Given the description of an element on the screen output the (x, y) to click on. 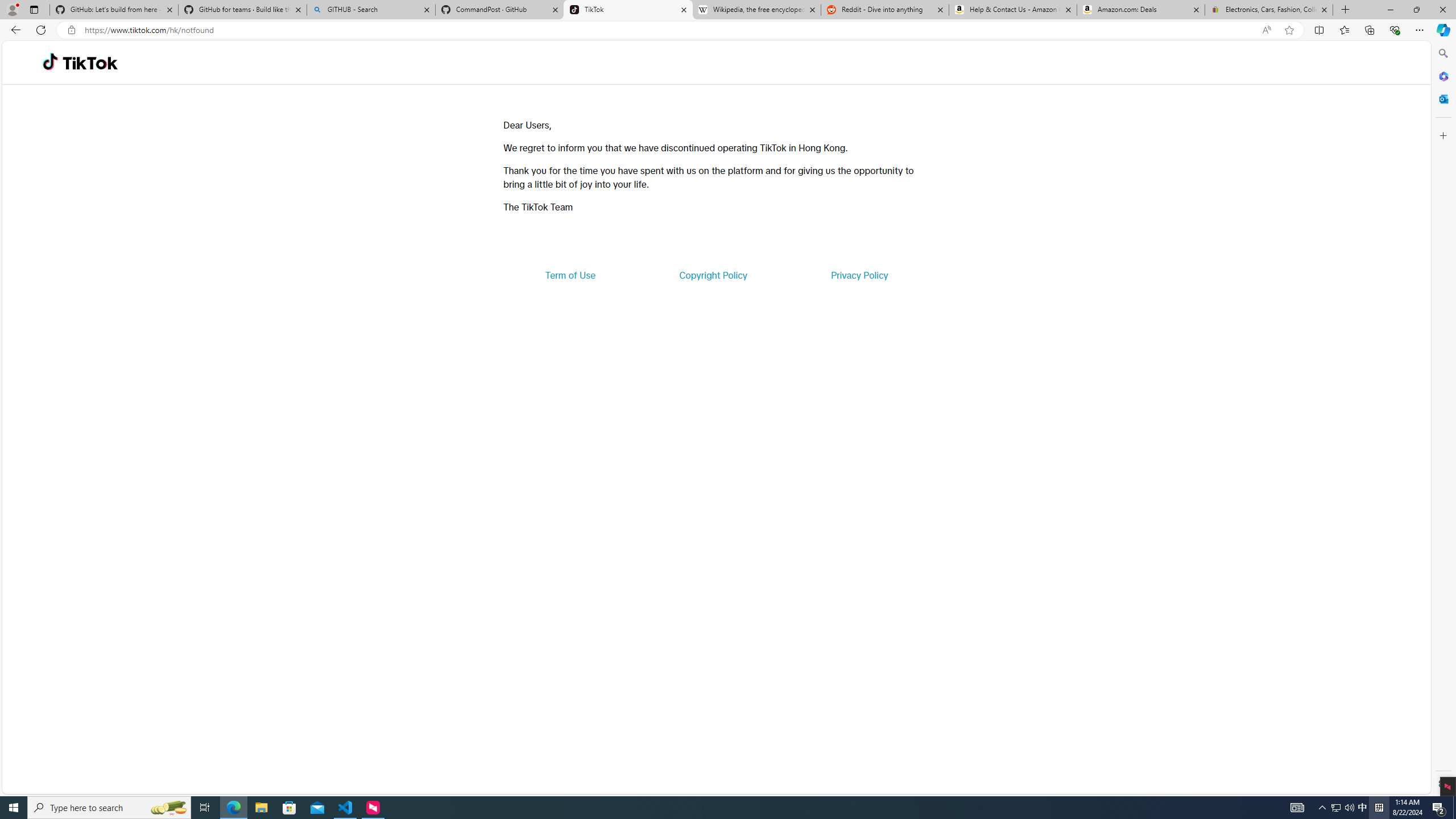
GITHUB - Search (370, 9)
Term of Use (569, 274)
